Given the description of an element on the screen output the (x, y) to click on. 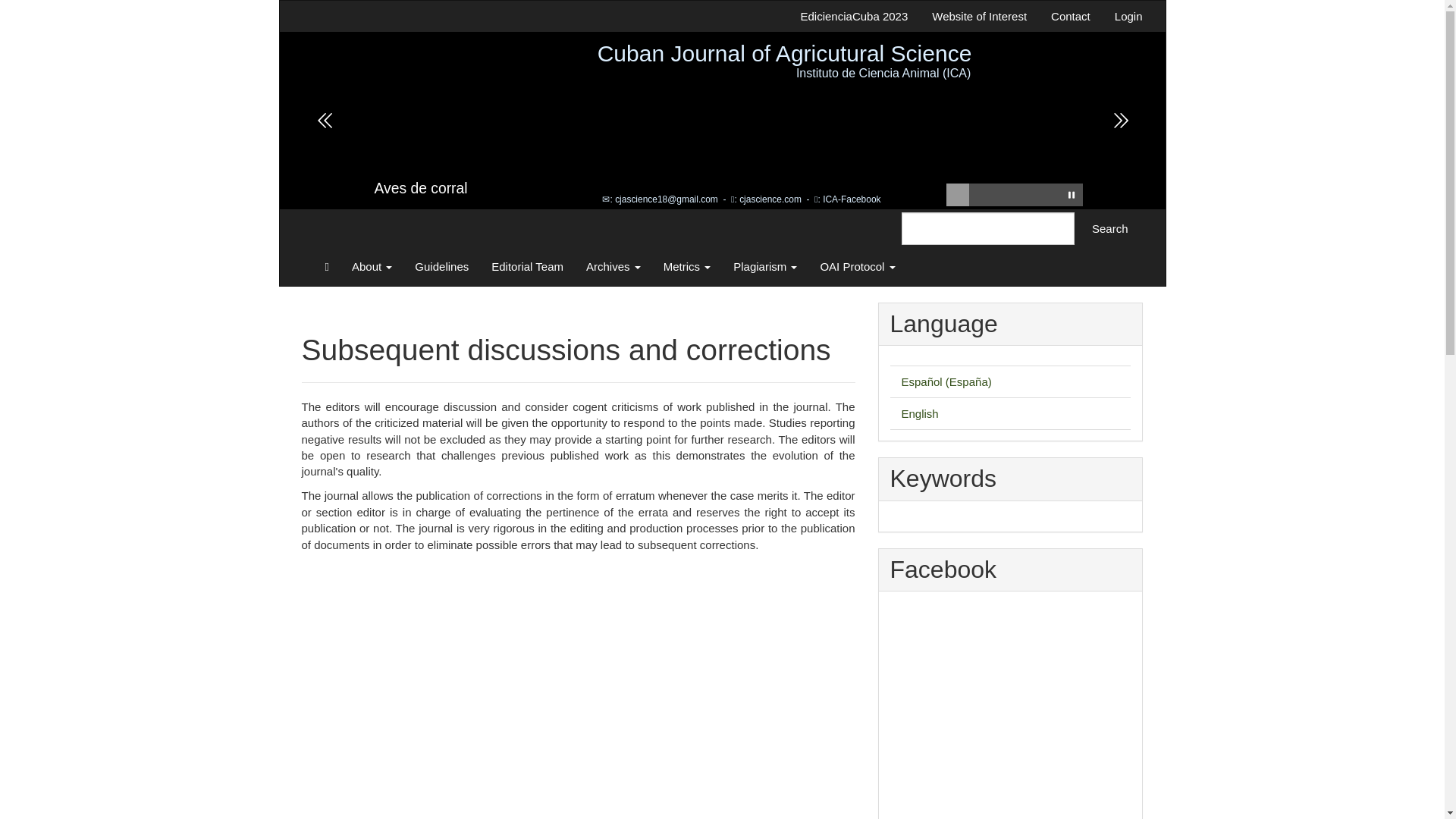
Editorial Team (527, 266)
About (371, 266)
Metrics (687, 266)
Login (1128, 15)
EdicienciaCuba 2023 (854, 15)
Search (1109, 228)
Contact (1070, 15)
Website of Interest (979, 15)
Guidelines (441, 266)
Archives (613, 266)
